Given the description of an element on the screen output the (x, y) to click on. 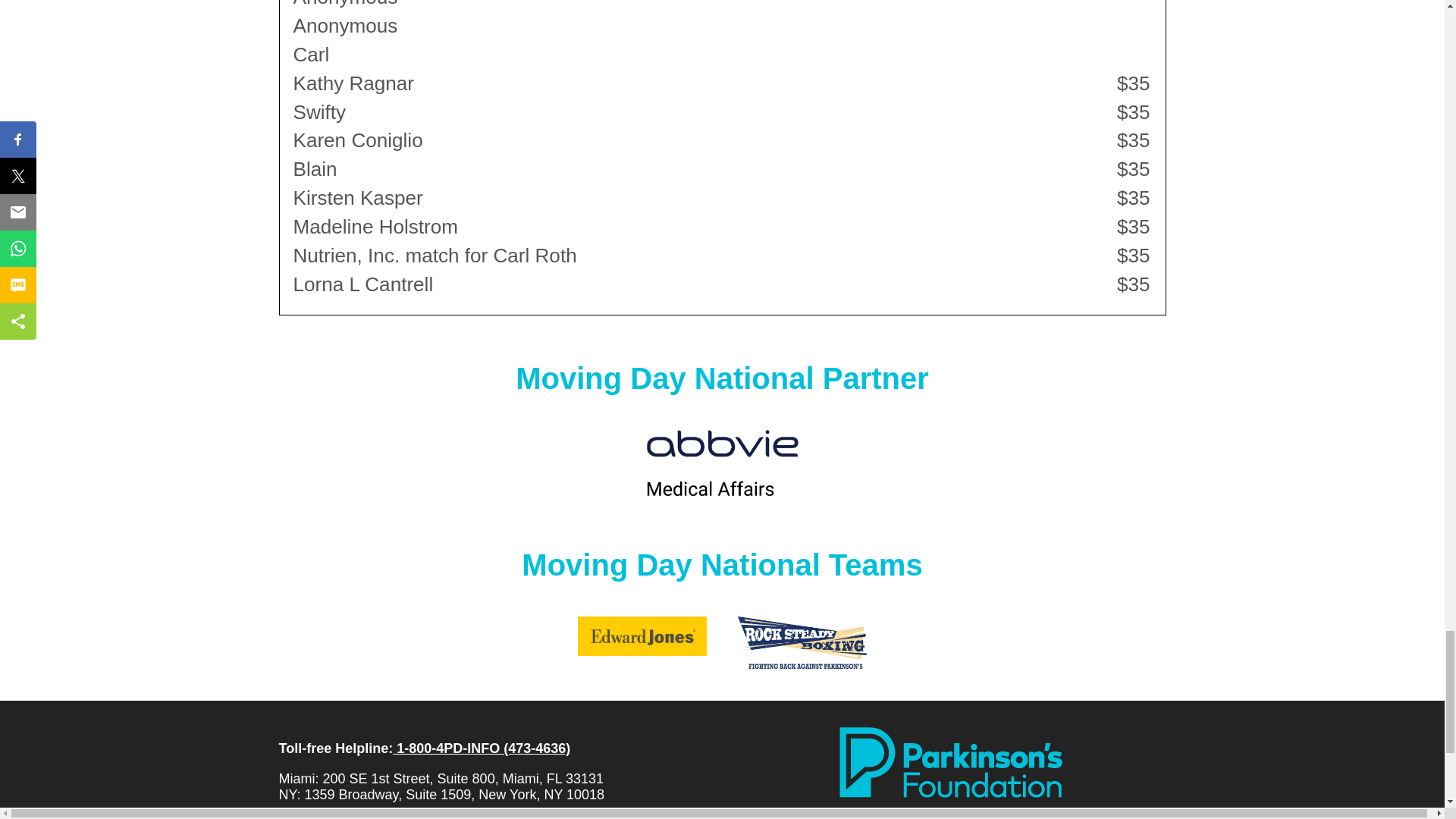
Abbvie (721, 462)
Rock-Steady-Boxing-logo (802, 642)
Edward-Jones-logo (642, 636)
